Given the description of an element on the screen output the (x, y) to click on. 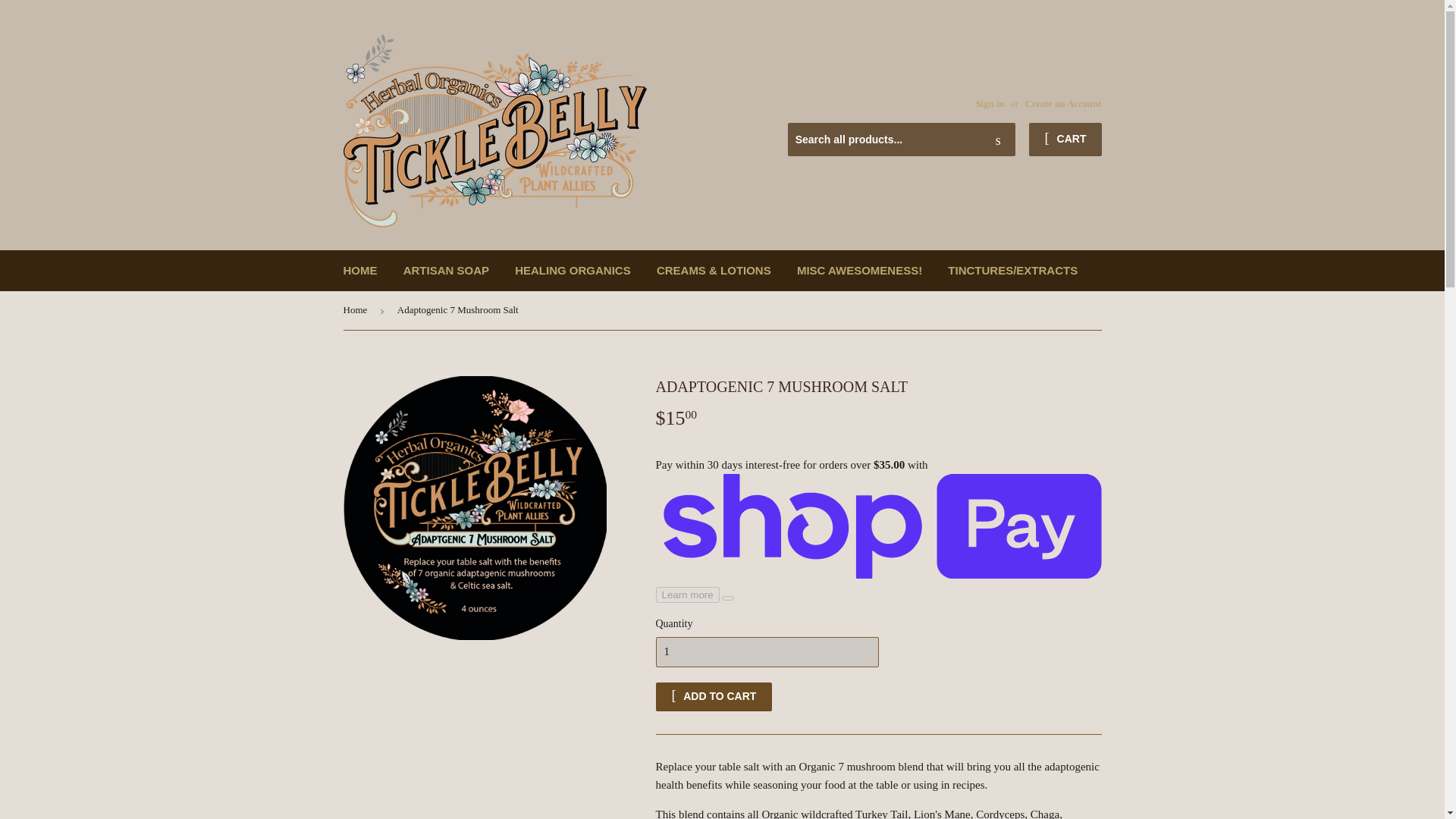
ARTISAN SOAP (445, 270)
HEALING ORGANICS (572, 270)
CART (1064, 139)
1 (766, 651)
Create an Account (1062, 103)
Sign in (989, 103)
Search (997, 140)
HOME (359, 270)
MISC AWESOMENESS! (859, 270)
ADD TO CART (713, 696)
